Given the description of an element on the screen output the (x, y) to click on. 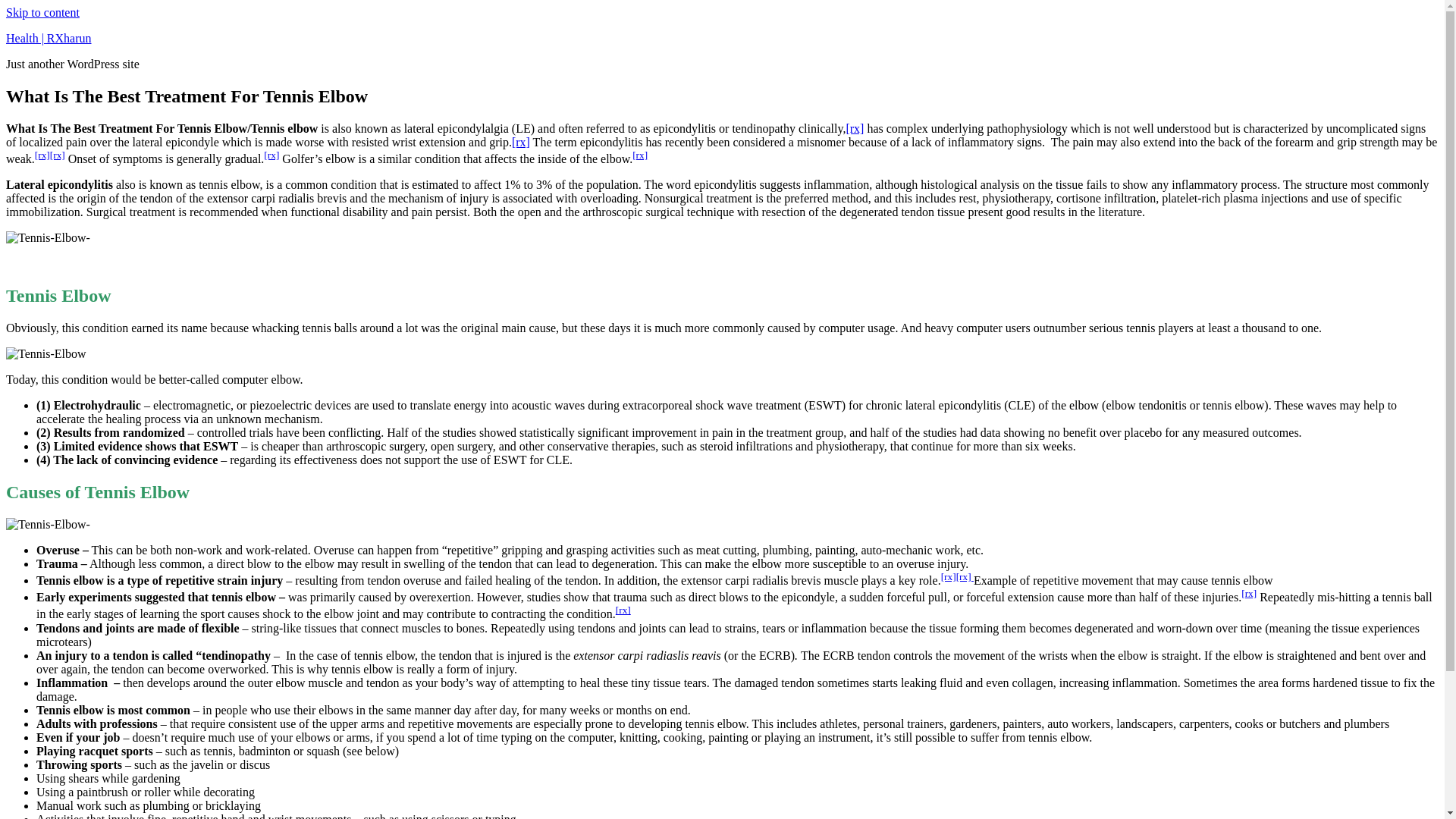
Skip to content (42, 11)
